Given the description of an element on the screen output the (x, y) to click on. 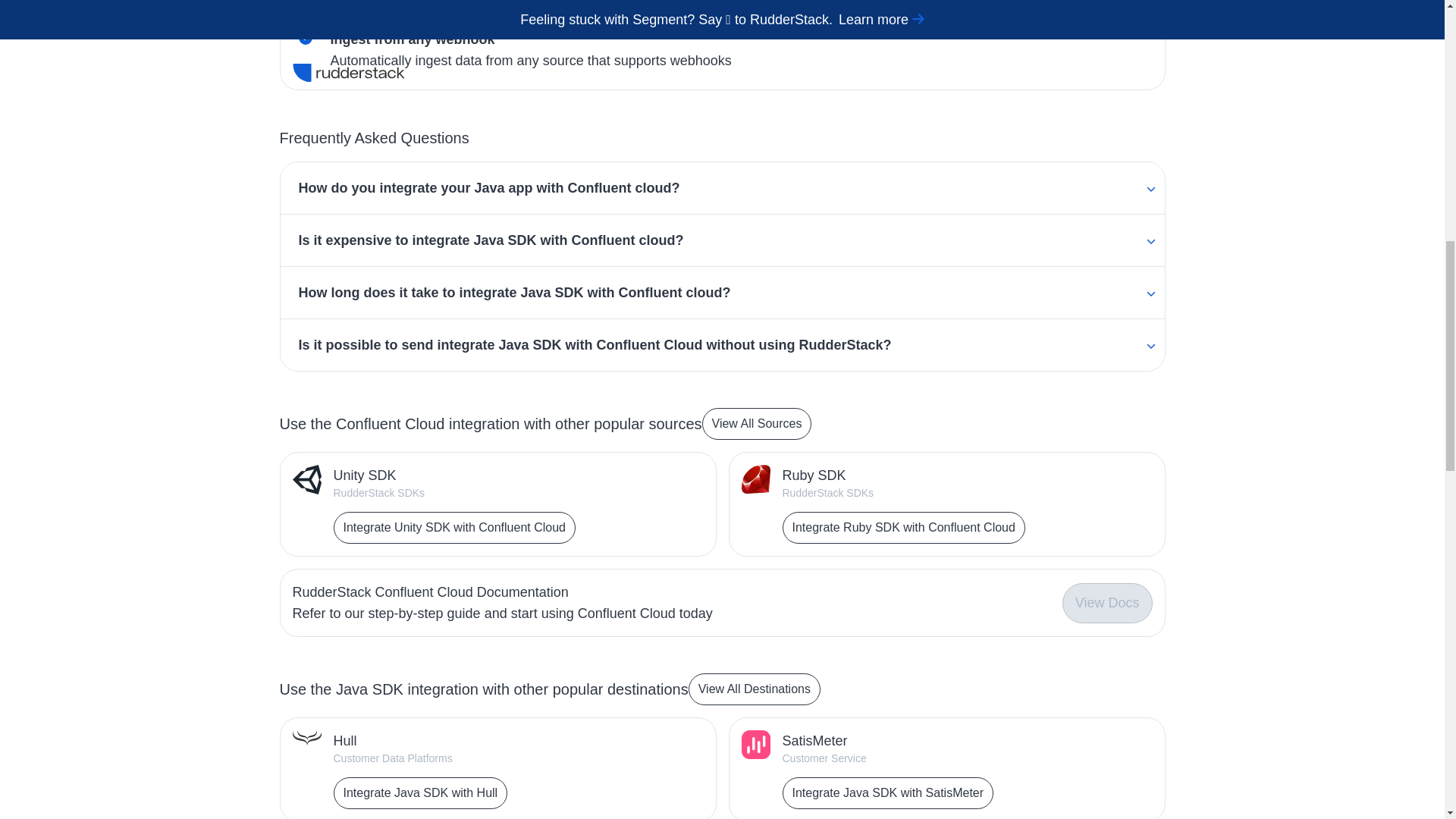
SatisMeter (888, 740)
View All Destinations (754, 689)
Hull (420, 740)
Unity SDK (454, 475)
View Docs (1107, 603)
Integrate Ruby SDK with Confluent Cloud (904, 527)
Integrate Java SDK with SatisMeter (888, 793)
Ruby SDK (904, 475)
View All Sources (756, 423)
